Given the description of an element on the screen output the (x, y) to click on. 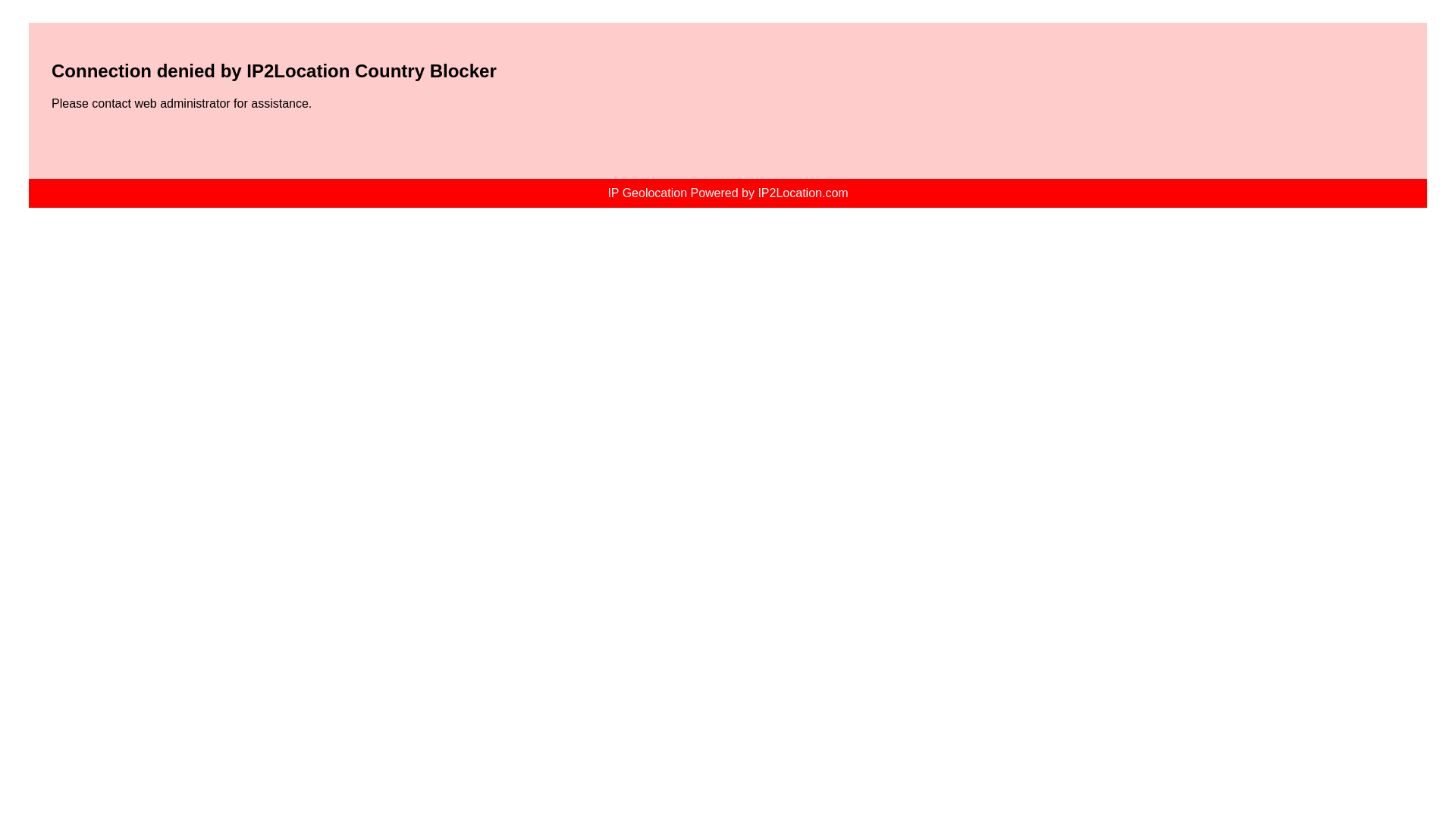
IP Geolocation Powered by IP2Location.com (727, 192)
